Given the description of an element on the screen output the (x, y) to click on. 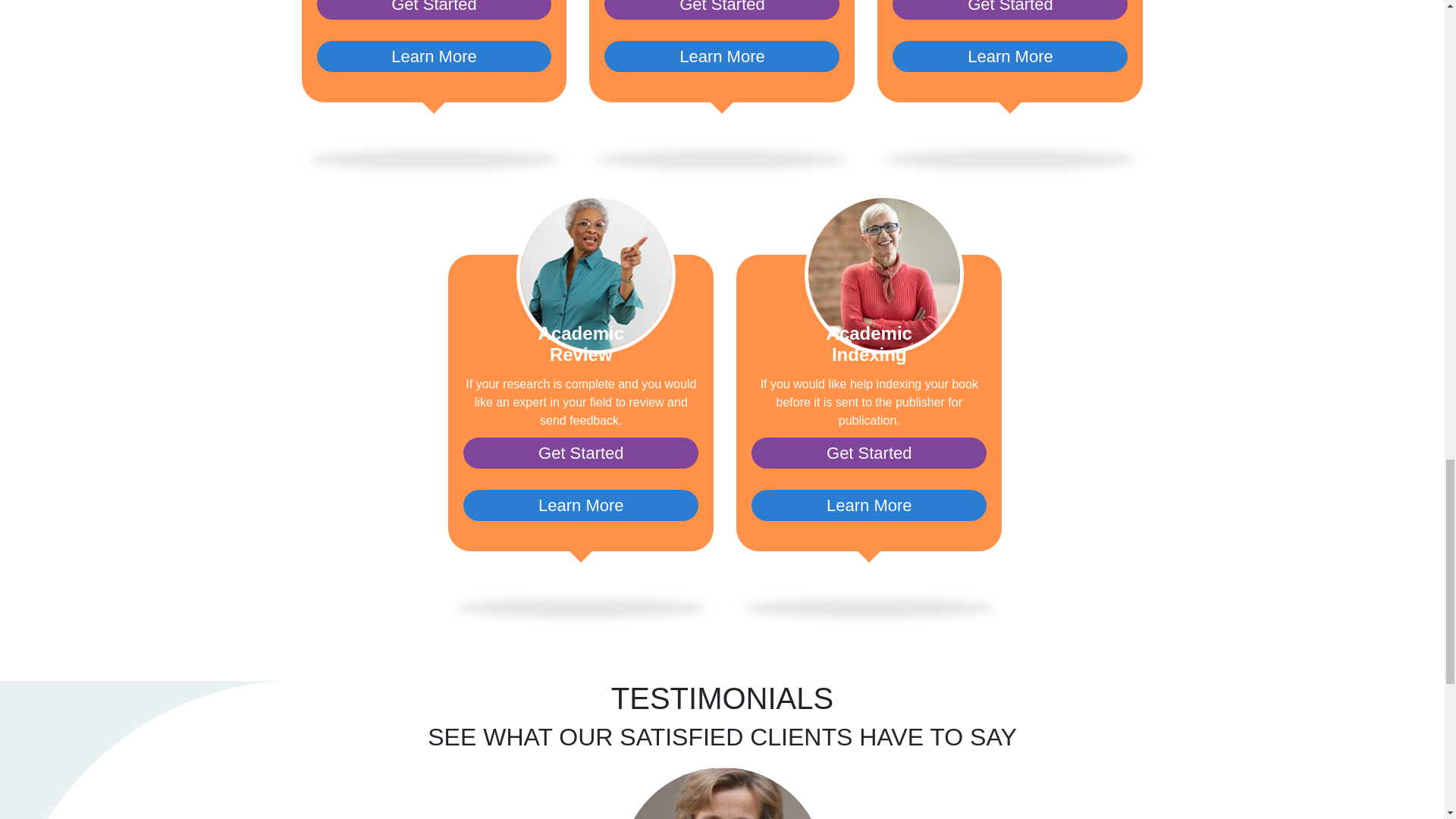
Get Started (434, 9)
Learn More (1009, 56)
Learn More (434, 56)
Learn More (580, 504)
Get Started (1009, 9)
Learn More (869, 504)
Get Started (869, 452)
Learn More (722, 56)
Get Started (722, 9)
Get Started (580, 452)
